Given the description of an element on the screen output the (x, y) to click on. 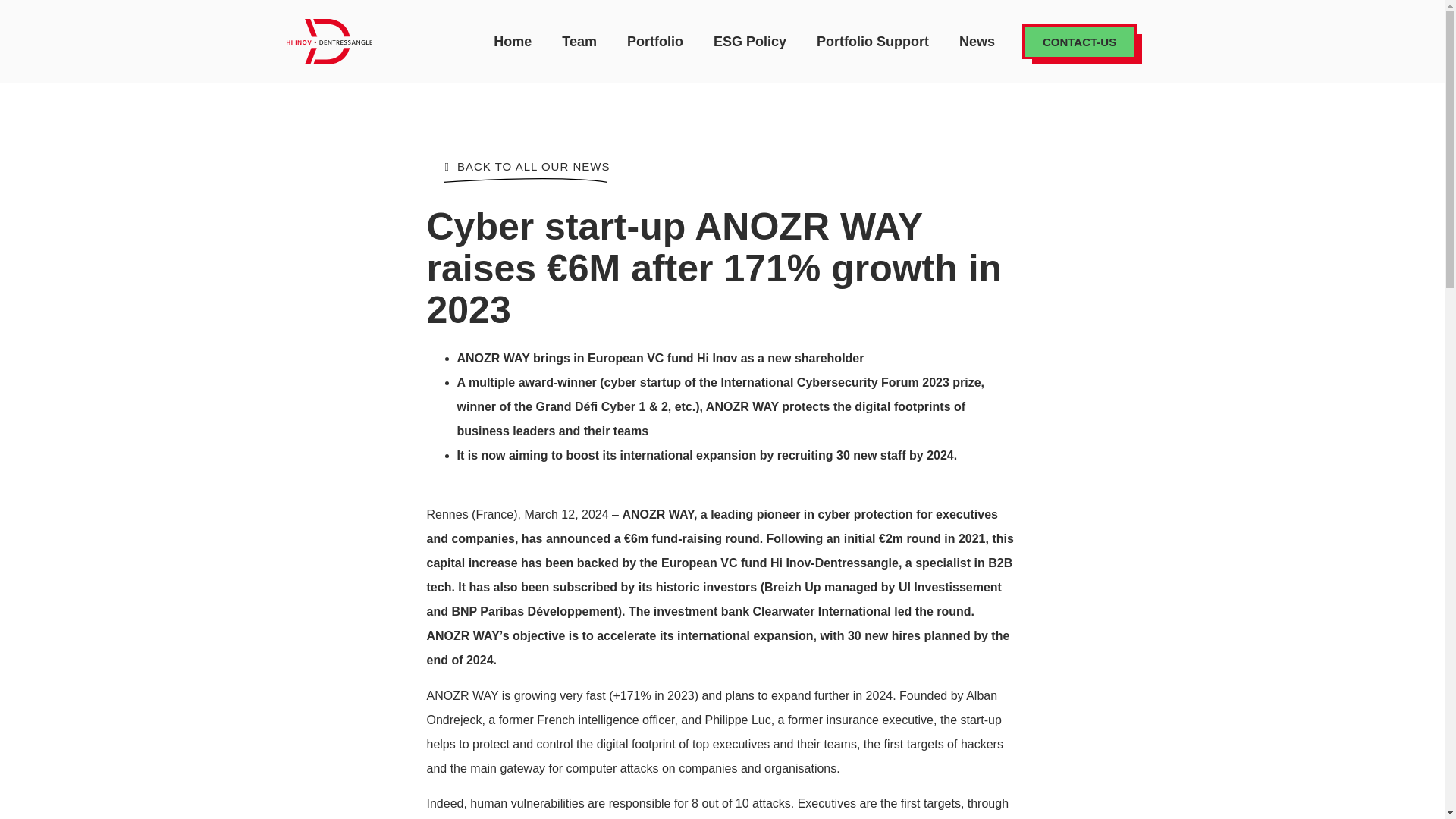
BACK TO ALL OUR NEWS (526, 166)
CONTACT-US (1079, 41)
Portfolio Support (872, 41)
Home (513, 41)
ESG Policy (750, 41)
Team (579, 41)
News (976, 41)
Portfolio (654, 41)
